Given the description of an element on the screen output the (x, y) to click on. 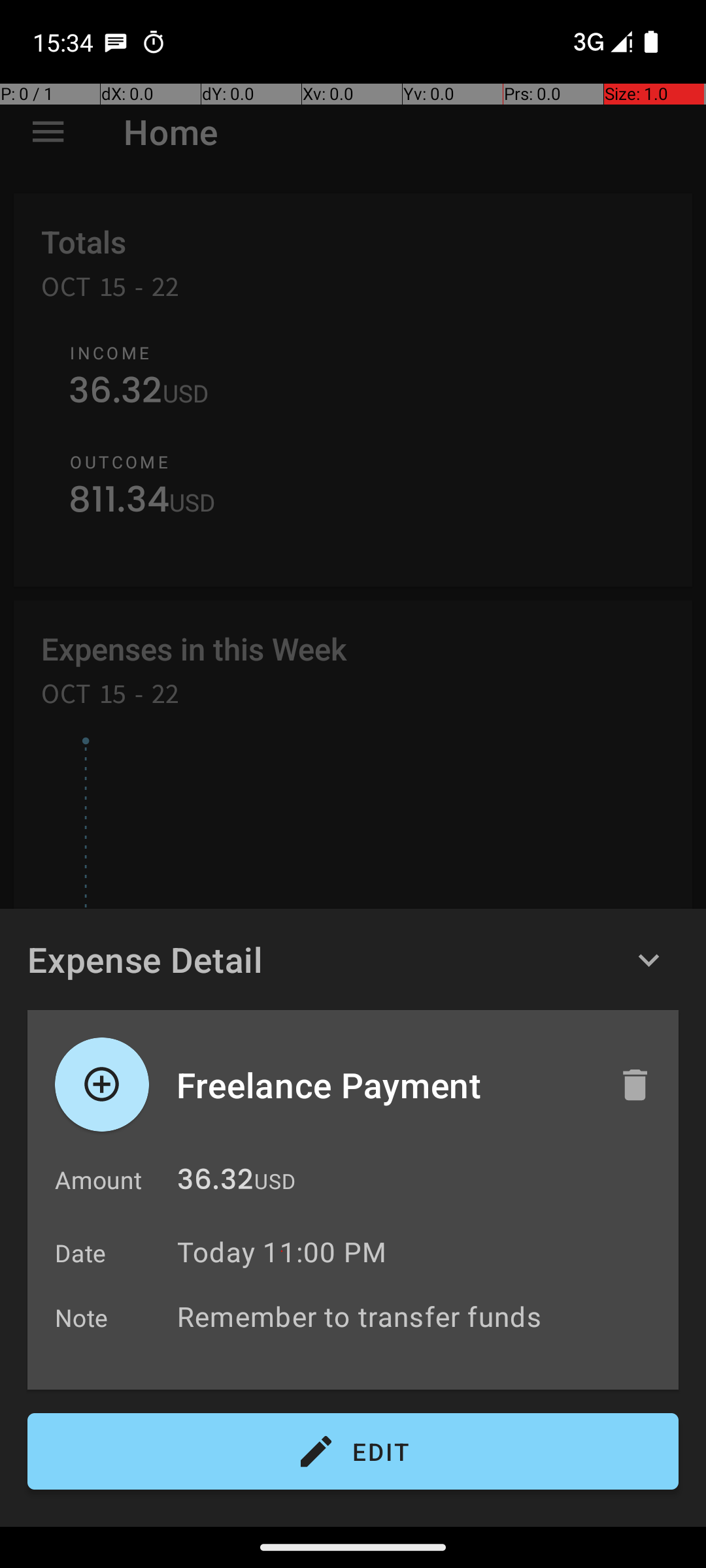
36.32 Element type: android.widget.TextView (214, 1182)
